Given the description of an element on the screen output the (x, y) to click on. 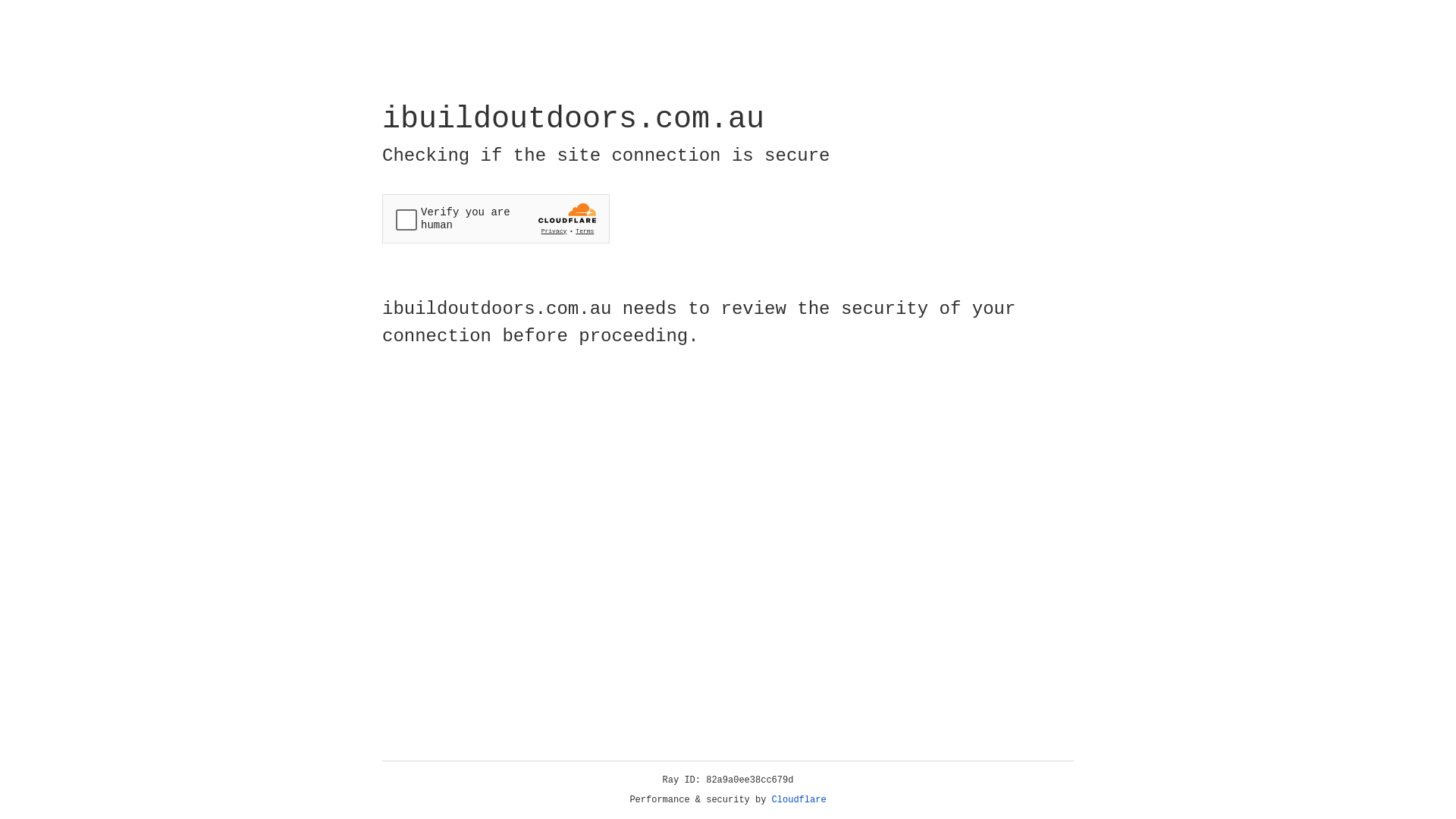
Cloudflare Element type: text (798, 799)
Widget containing a Cloudflare security challenge Element type: hover (495, 218)
